Given the description of an element on the screen output the (x, y) to click on. 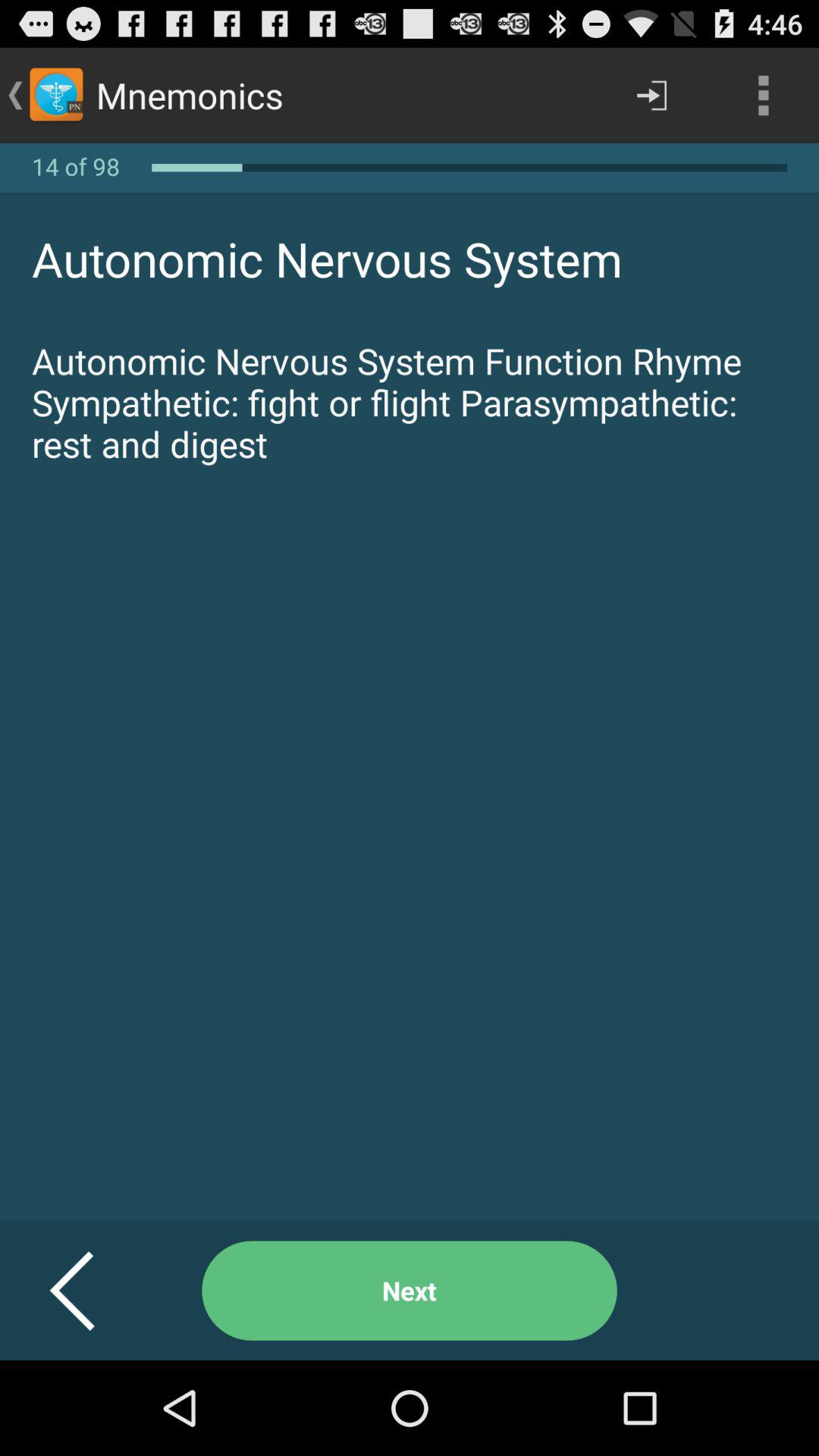
turn on the icon below the autonomic nervous system (91, 1290)
